Given the description of an element on the screen output the (x, y) to click on. 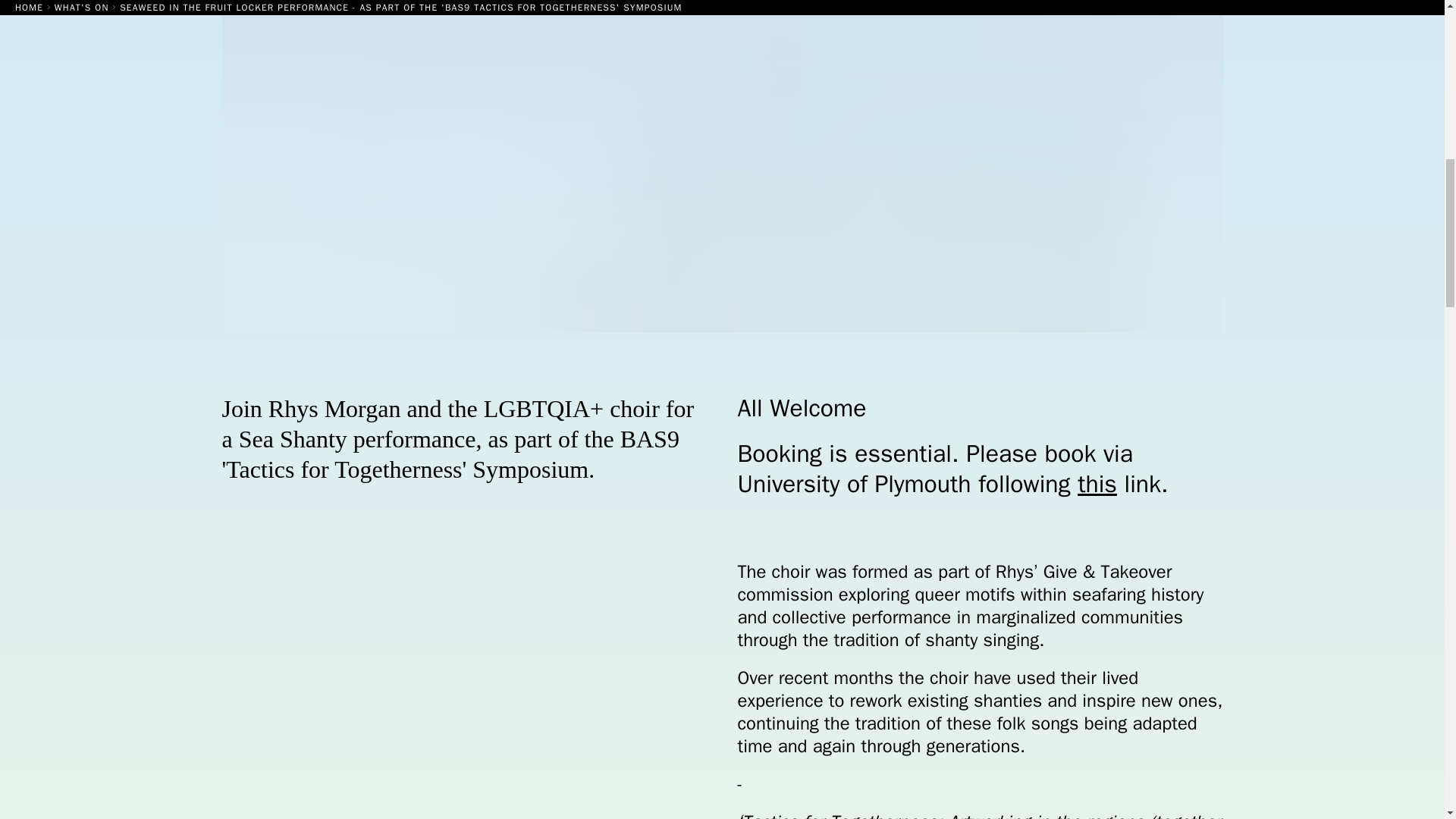
this (1096, 483)
